Given the description of an element on the screen output the (x, y) to click on. 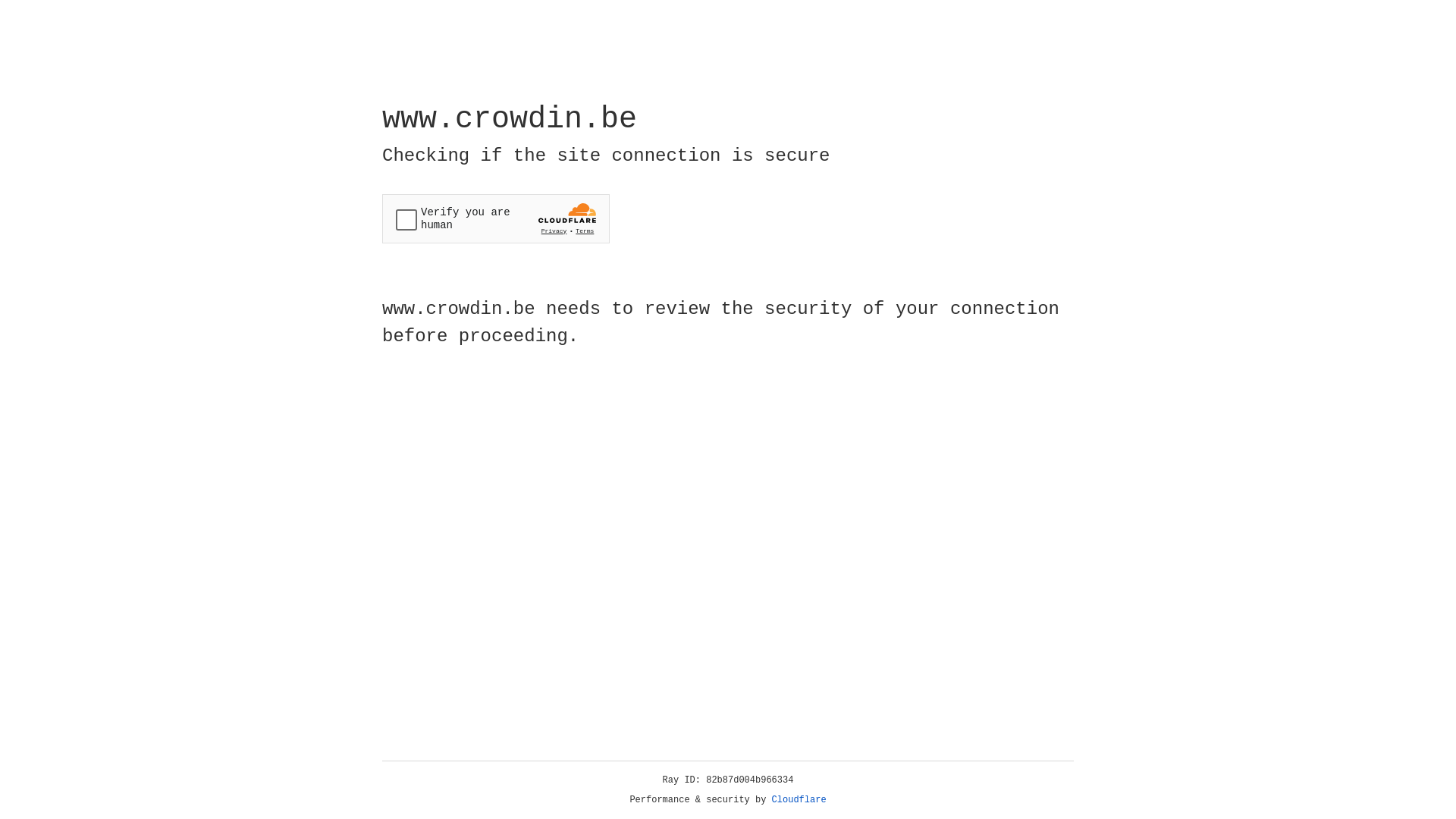
Widget containing a Cloudflare security challenge Element type: hover (495, 218)
Cloudflare Element type: text (798, 799)
